Given the description of an element on the screen output the (x, y) to click on. 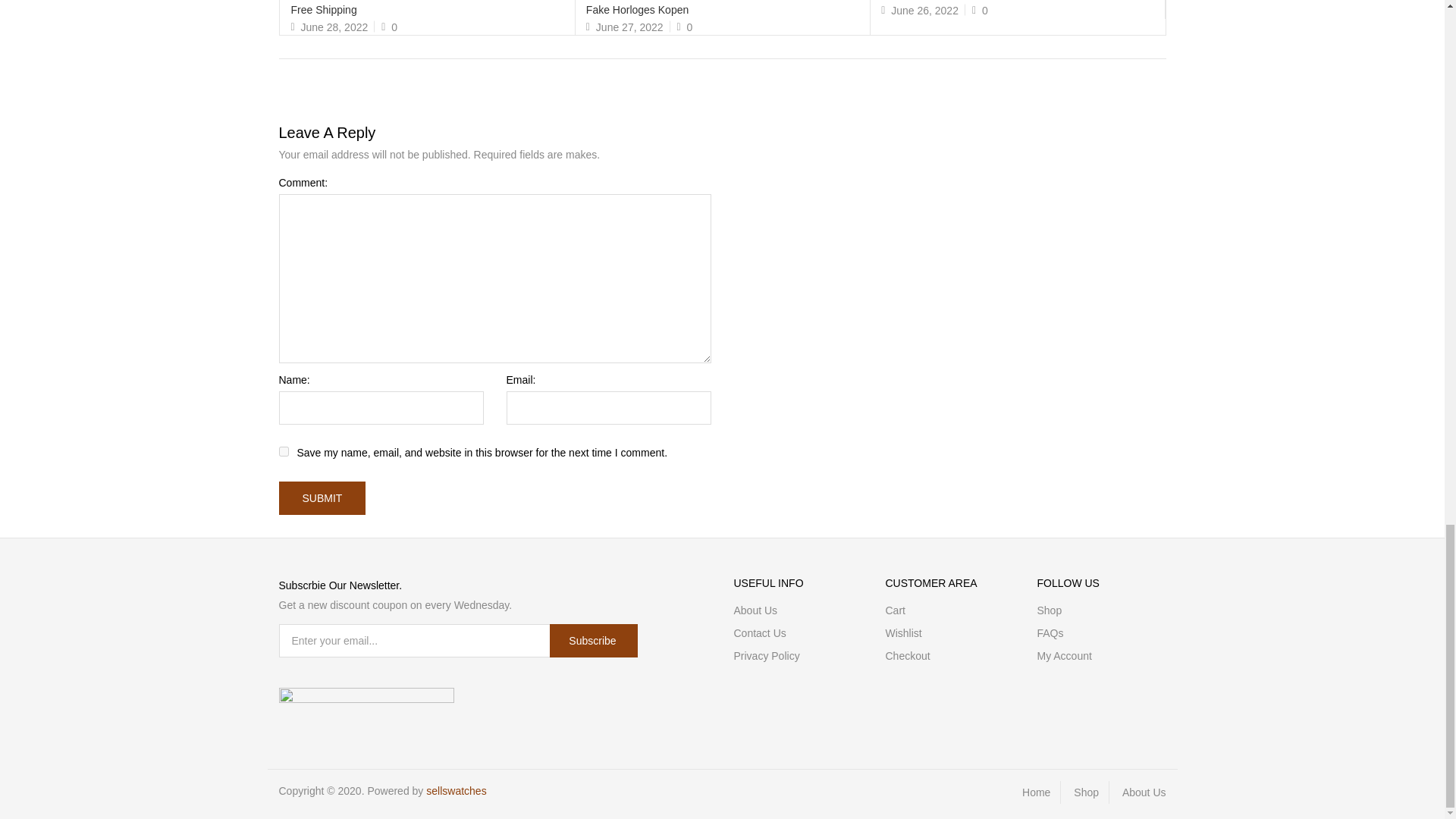
submit (322, 498)
payments (366, 696)
subscribe (593, 640)
yes (283, 451)
